Given the description of an element on the screen output the (x, y) to click on. 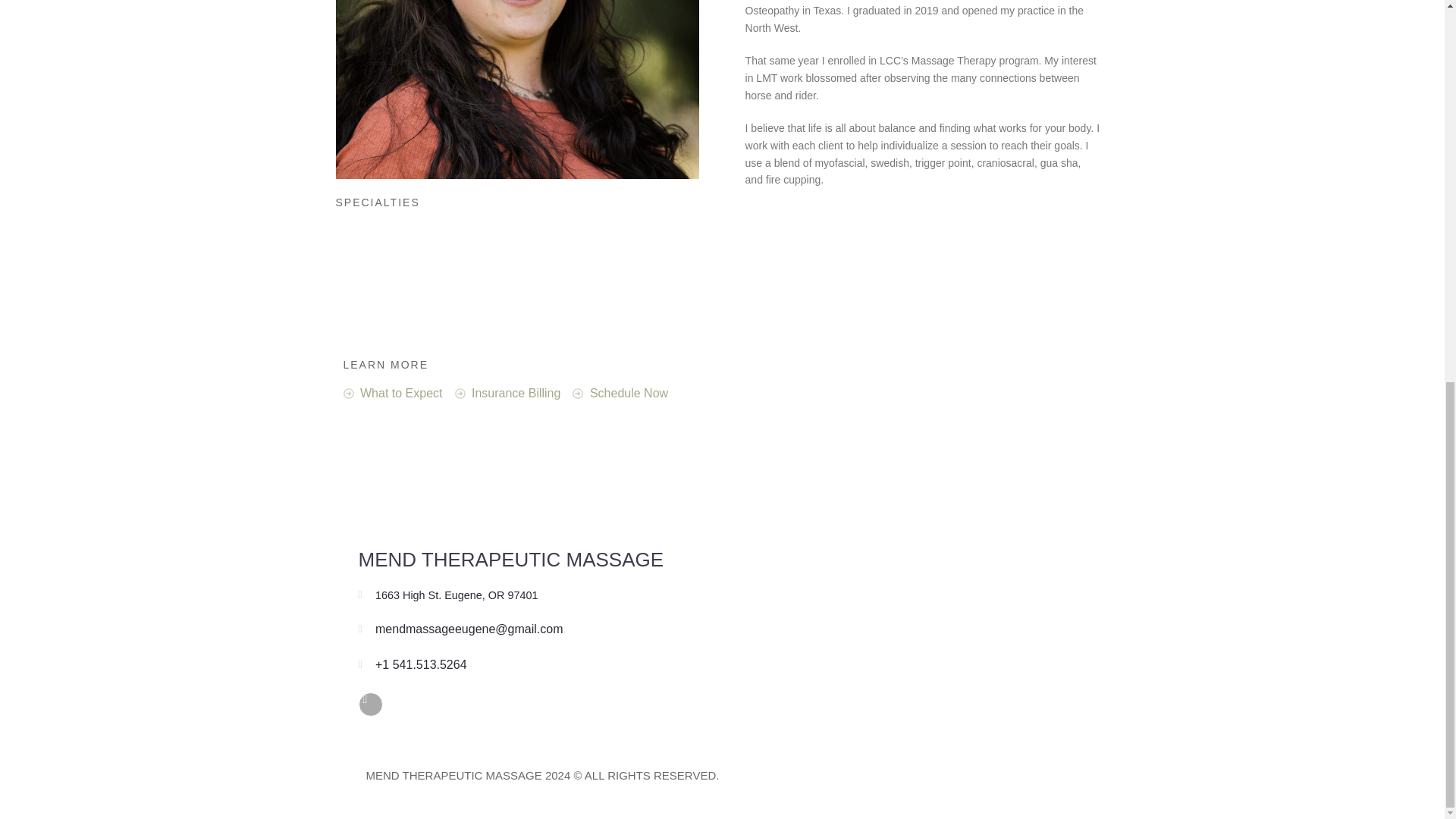
What to Expect (392, 393)
Insurance Billing (507, 393)
Schedule Now (620, 393)
